Given the description of an element on the screen output the (x, y) to click on. 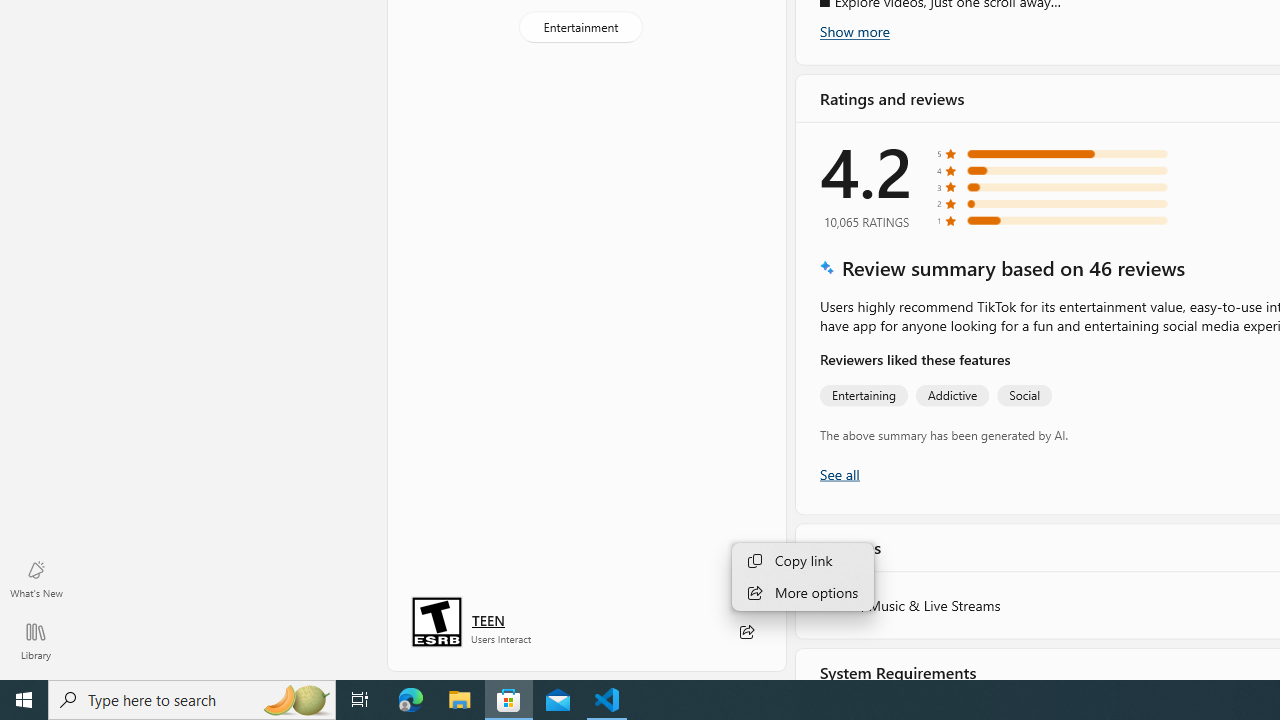
Entertainment (580, 26)
Share (746, 632)
What's New (35, 578)
Library (35, 640)
Age rating: TEEN. Click for more information. (488, 619)
Show all ratings and reviews (838, 472)
Show more (854, 31)
